Given the description of an element on the screen output the (x, y) to click on. 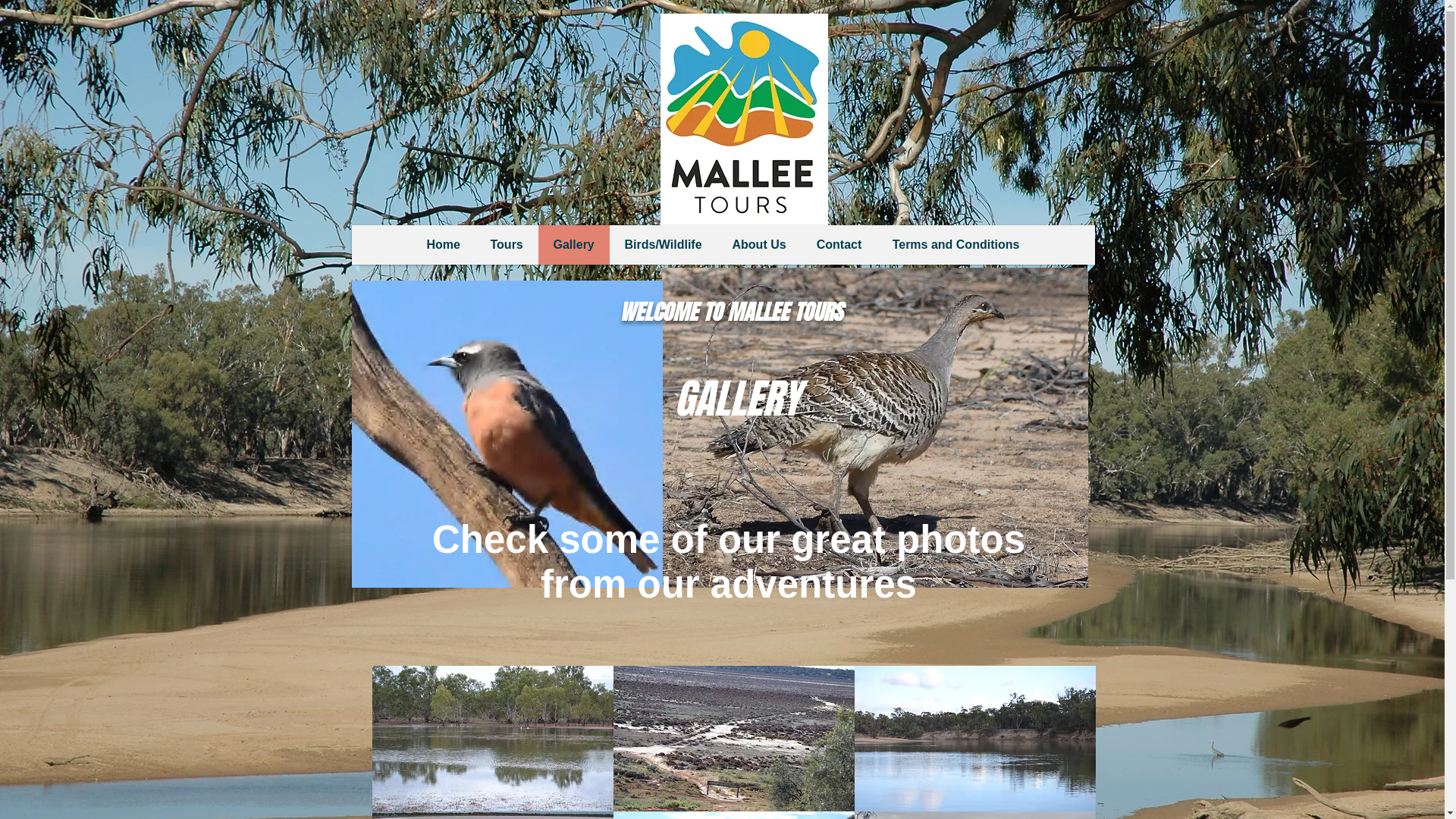
Home Element type: text (443, 244)
Birds/Wildlife Element type: text (662, 244)
Gallery Element type: text (573, 244)
About Us Element type: text (758, 244)
Contact Element type: text (839, 244)
mallee tours logo.jpg Element type: hover (743, 118)
Tours Element type: text (506, 244)
